Given the description of an element on the screen output the (x, y) to click on. 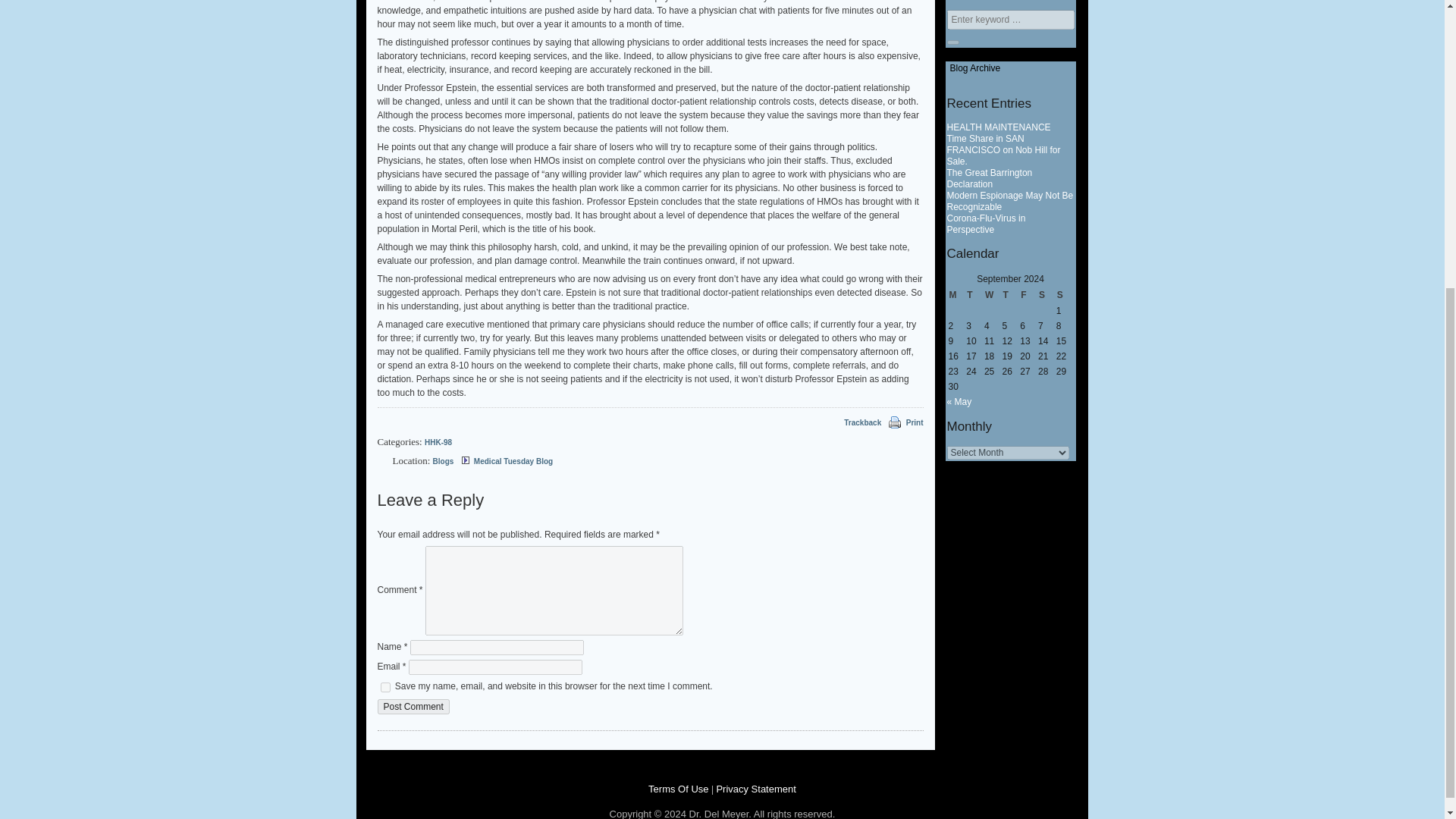
Post Comment (413, 706)
Thursday (1011, 294)
Print (892, 422)
Sunday (1065, 294)
Wednesday (992, 294)
Blogs (443, 461)
Saturday (1046, 294)
Monday (955, 294)
Post Comment (413, 706)
Trackback (854, 422)
